Given the description of an element on the screen output the (x, y) to click on. 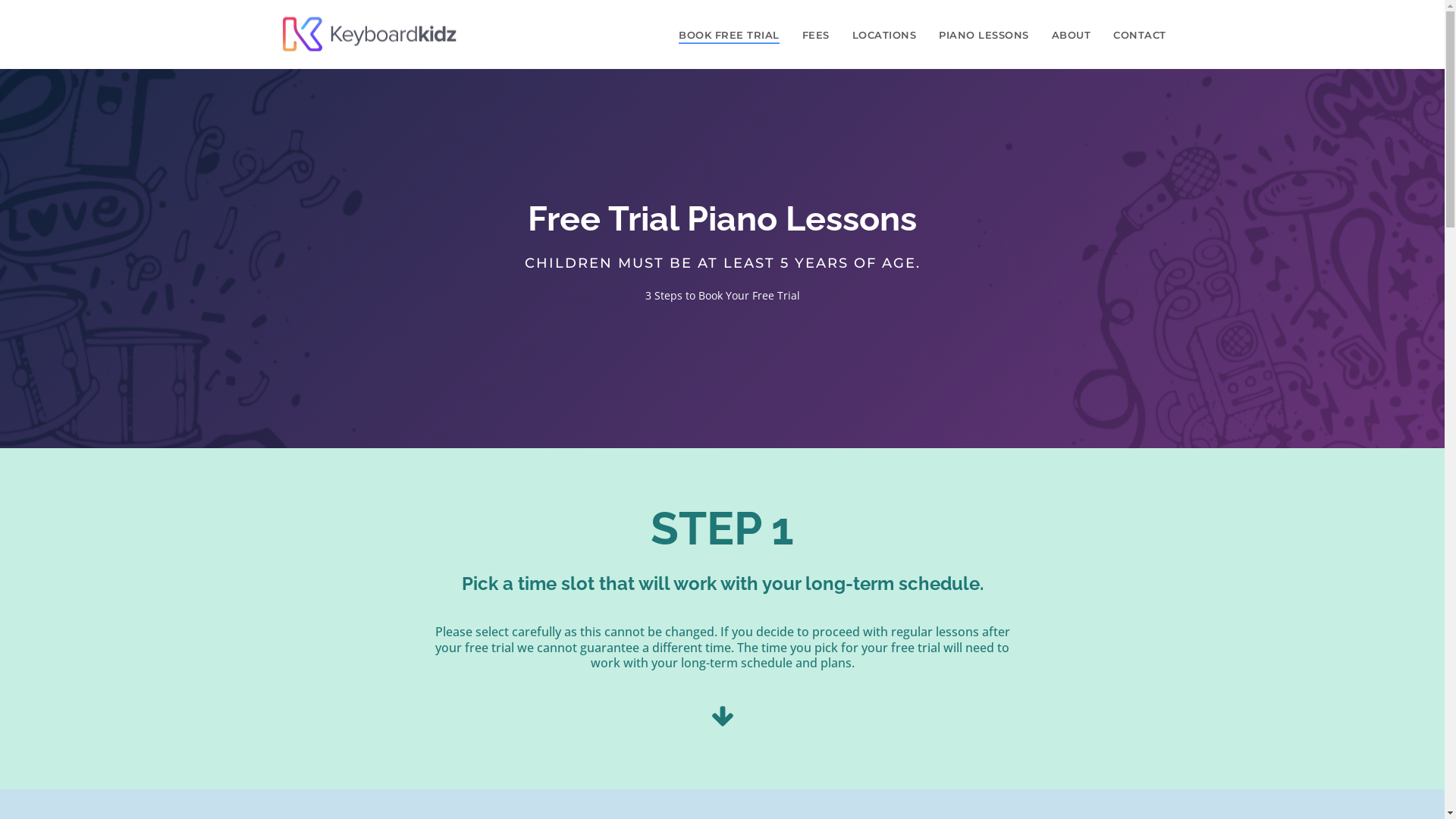
LOCATIONS Element type: text (883, 34)
ABOUT Element type: text (1071, 34)
FEES Element type: text (815, 34)
CONTACT Element type: text (1139, 34)
PIANO LESSONS Element type: text (983, 34)
BOOK FREE TRIAL Element type: text (728, 34)
